Given the description of an element on the screen output the (x, y) to click on. 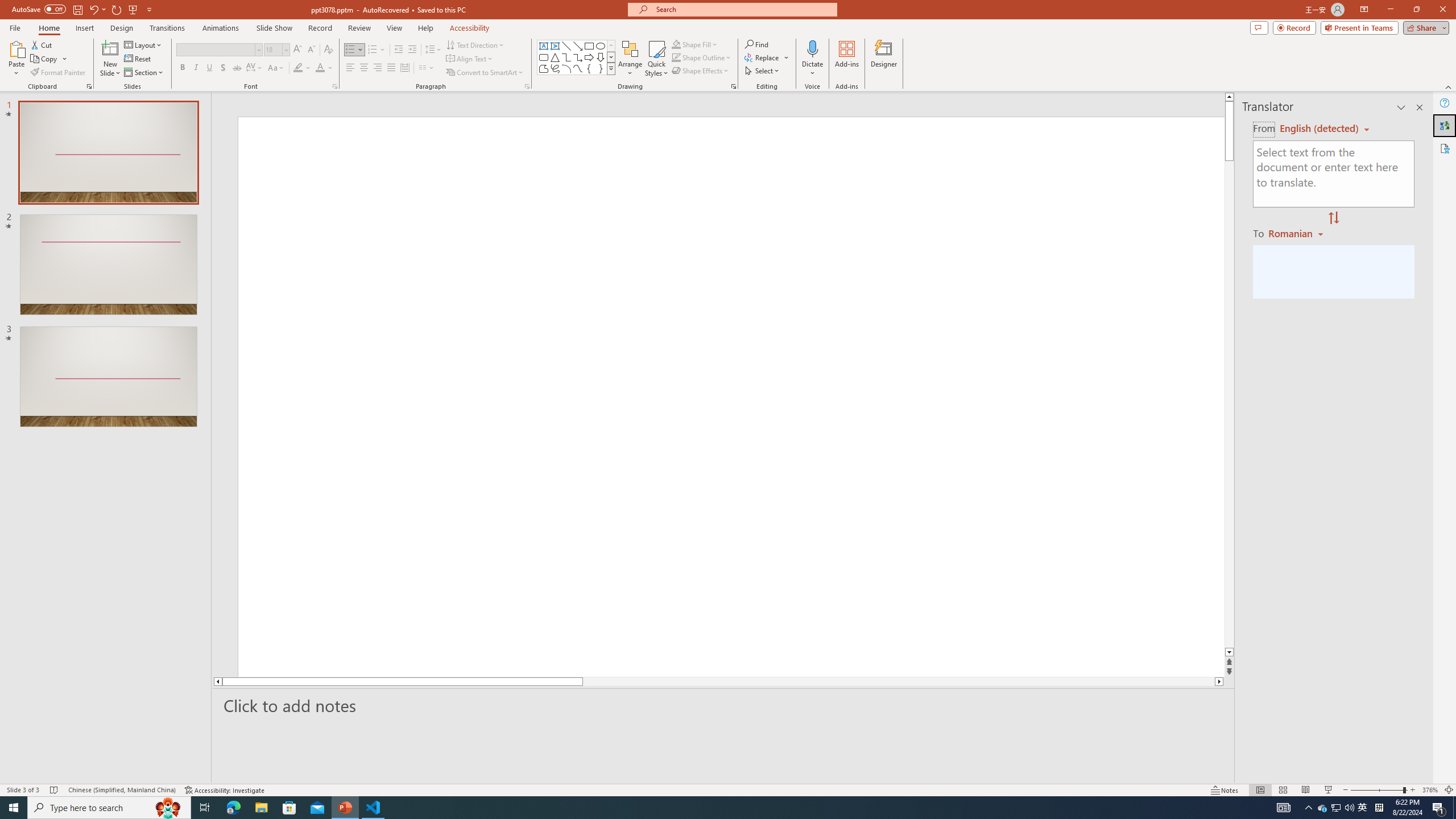
An abstract genetic concept (834, 395)
